Given the description of an element on the screen output the (x, y) to click on. 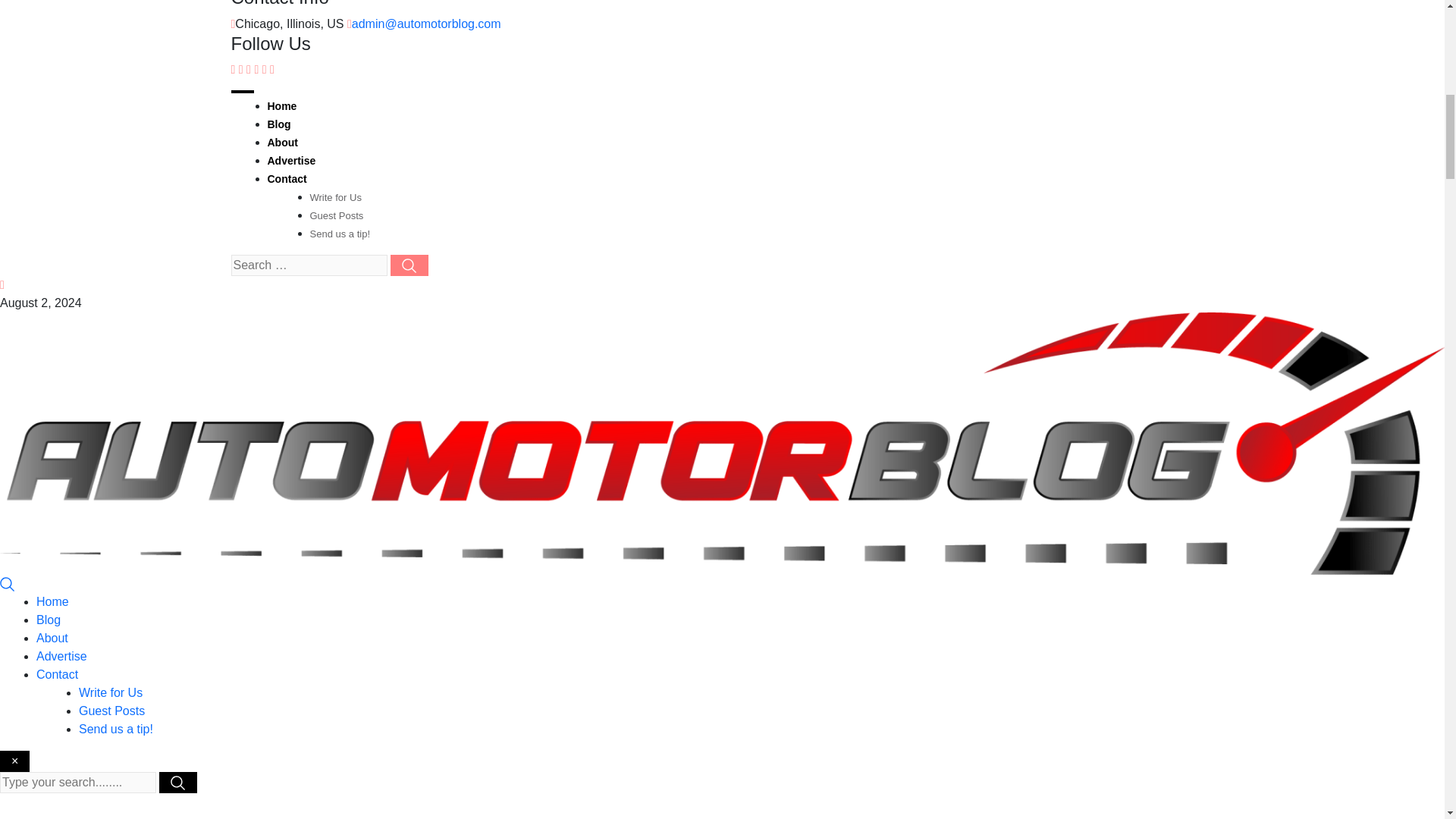
Contact (57, 674)
Write for Us (334, 197)
About (281, 142)
Blog (48, 619)
Guest Posts (335, 215)
Home (281, 105)
Advertise (290, 160)
Advertise (61, 656)
Blog (277, 123)
